Given the description of an element on the screen output the (x, y) to click on. 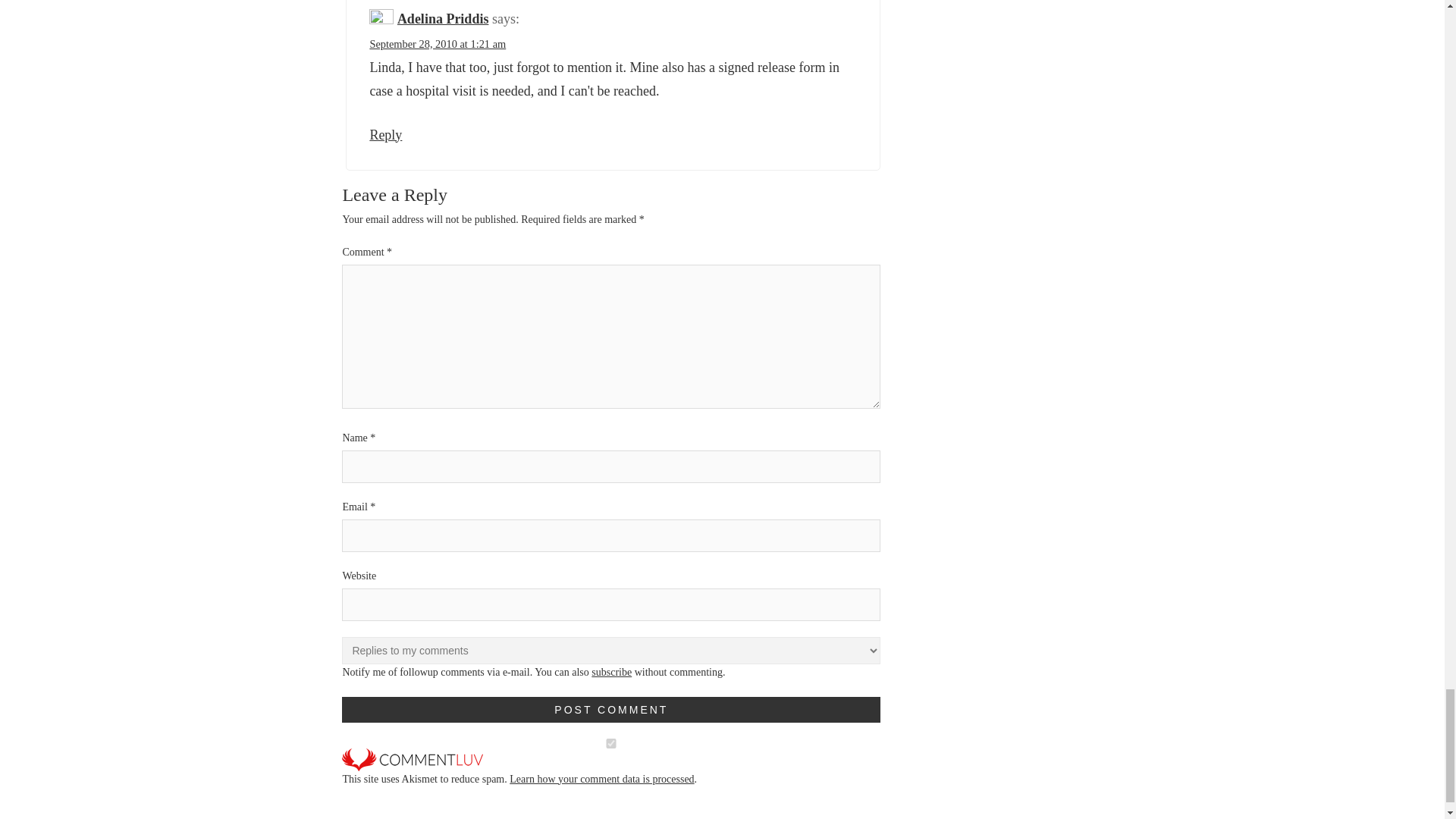
Post Comment (611, 709)
on (611, 743)
CommentLuv is enabled (412, 758)
